Given the description of an element on the screen output the (x, y) to click on. 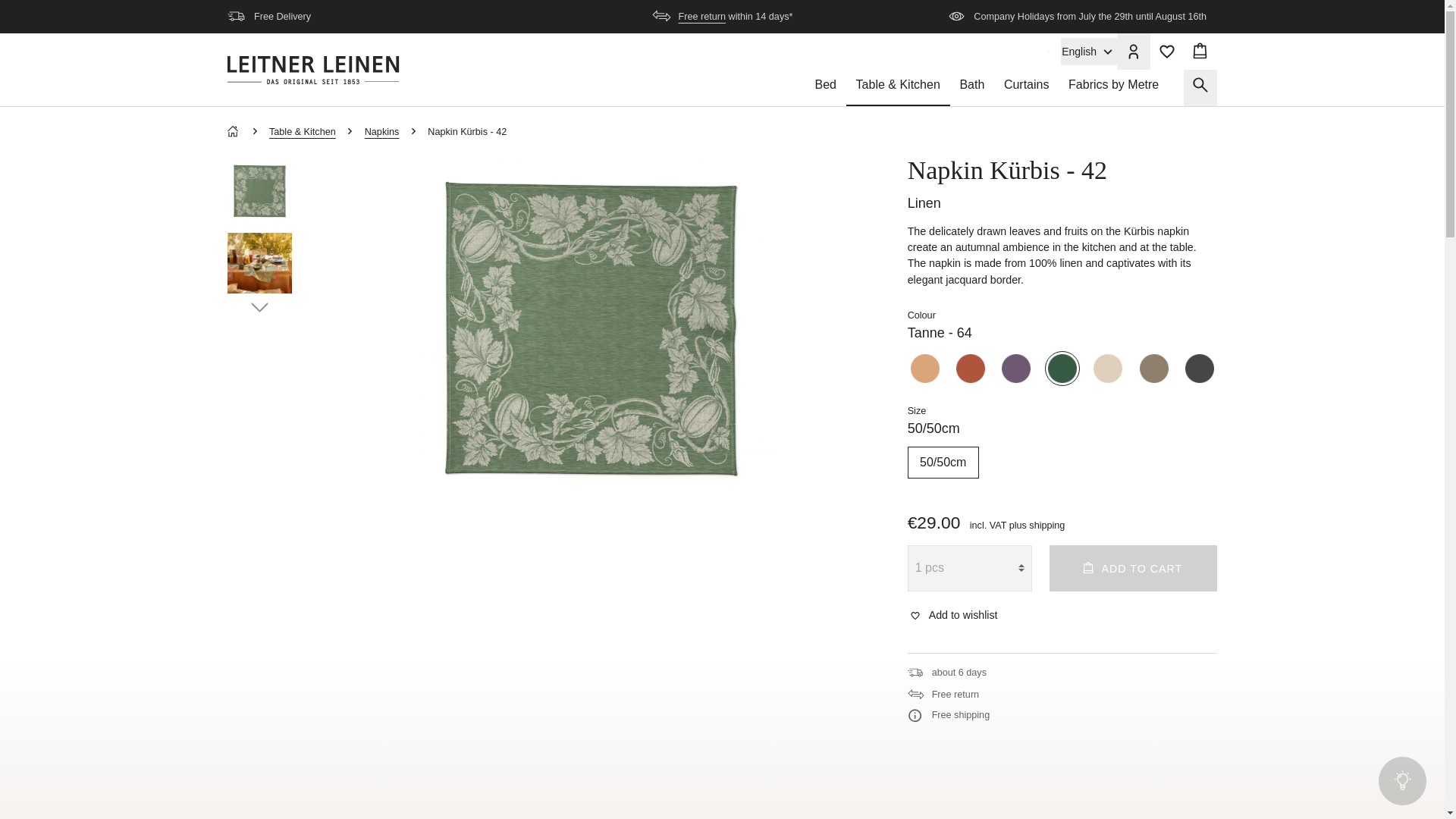
English (1088, 51)
Curtains (1026, 87)
Wish List (1166, 51)
My Account (1133, 51)
Bed (825, 87)
Go to homepage (312, 70)
Language (1088, 51)
Fabrics by Metre (1113, 87)
Curtains (1026, 87)
Free return (701, 16)
